Given the description of an element on the screen output the (x, y) to click on. 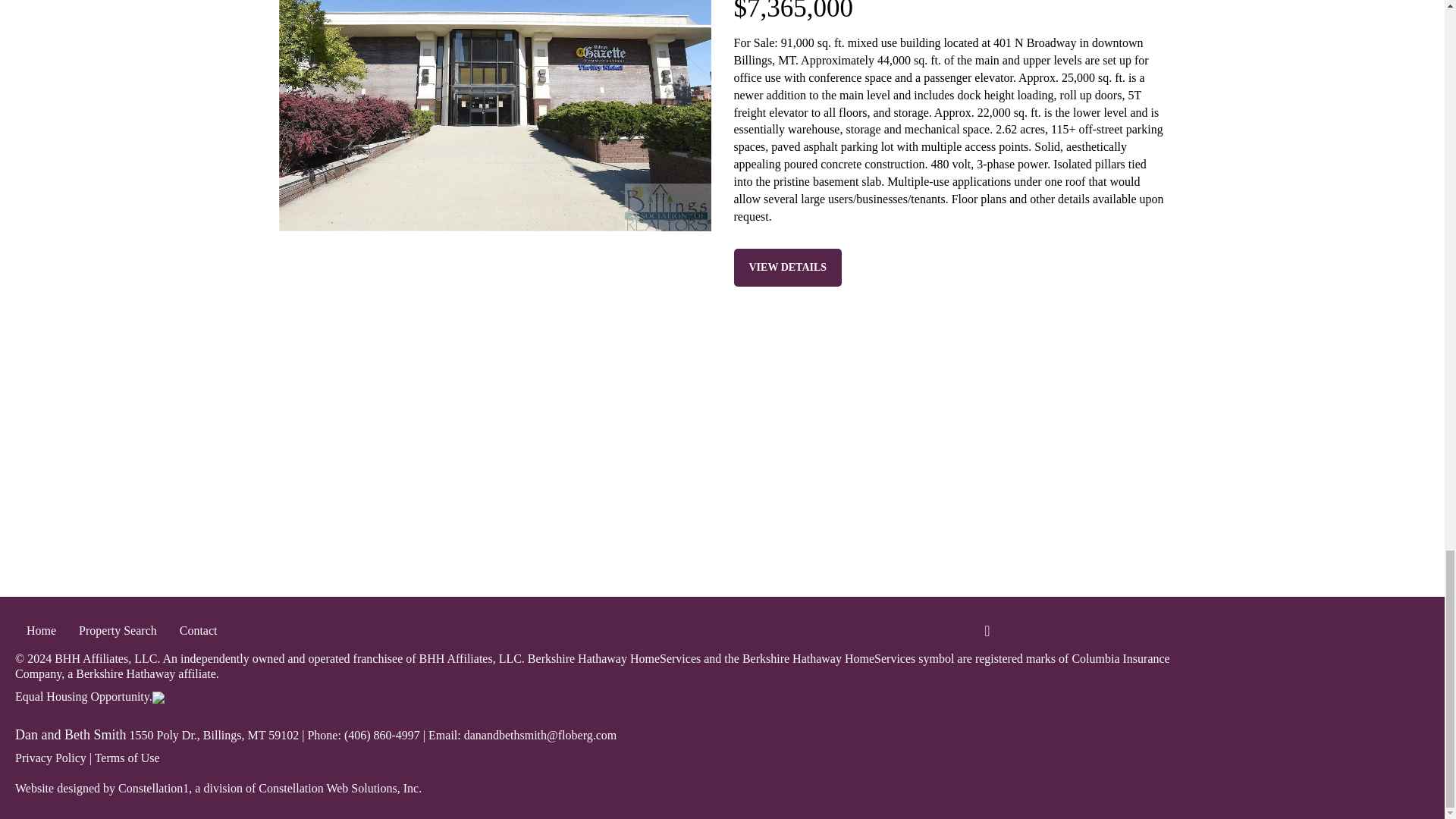
SEARCH (240, 558)
VIEW DETAILS (788, 267)
Contact (198, 630)
Property Search (117, 630)
Home (40, 630)
Privacy Policy (49, 757)
EXPLORE (722, 558)
Terms of Use (127, 757)
Constellation1 (153, 788)
CONTACT (1202, 558)
